Given the description of an element on the screen output the (x, y) to click on. 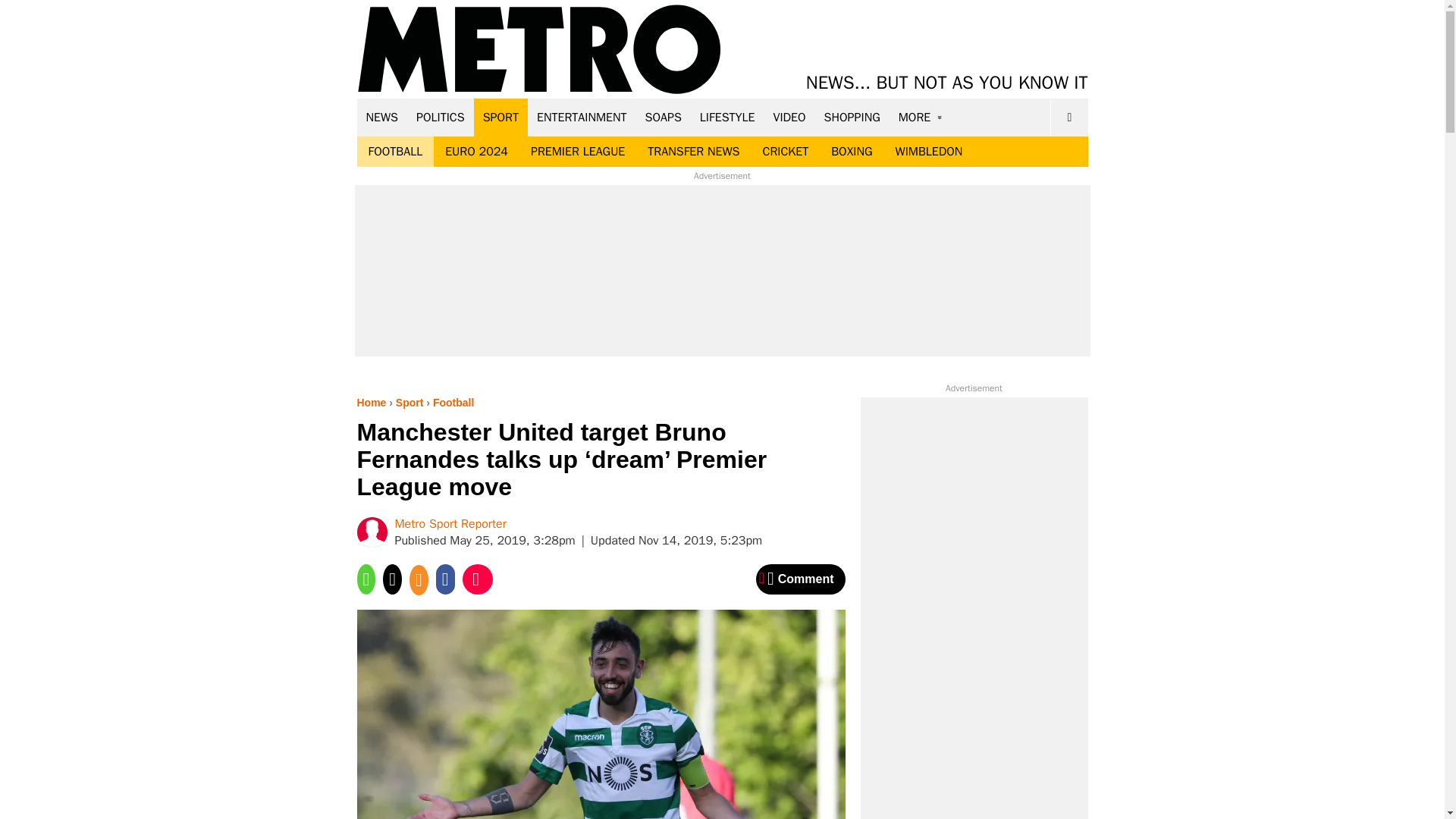
EURO 2024 (476, 151)
TRANSFER NEWS (693, 151)
POLITICS (440, 117)
SPORT (500, 117)
FOOTBALL (394, 151)
SOAPS (663, 117)
CRICKET (785, 151)
Metro (539, 50)
ENTERTAINMENT (581, 117)
NEWS (381, 117)
PREMIER LEAGUE (577, 151)
WIMBLEDON (928, 151)
BOXING (851, 151)
